Given the description of an element on the screen output the (x, y) to click on. 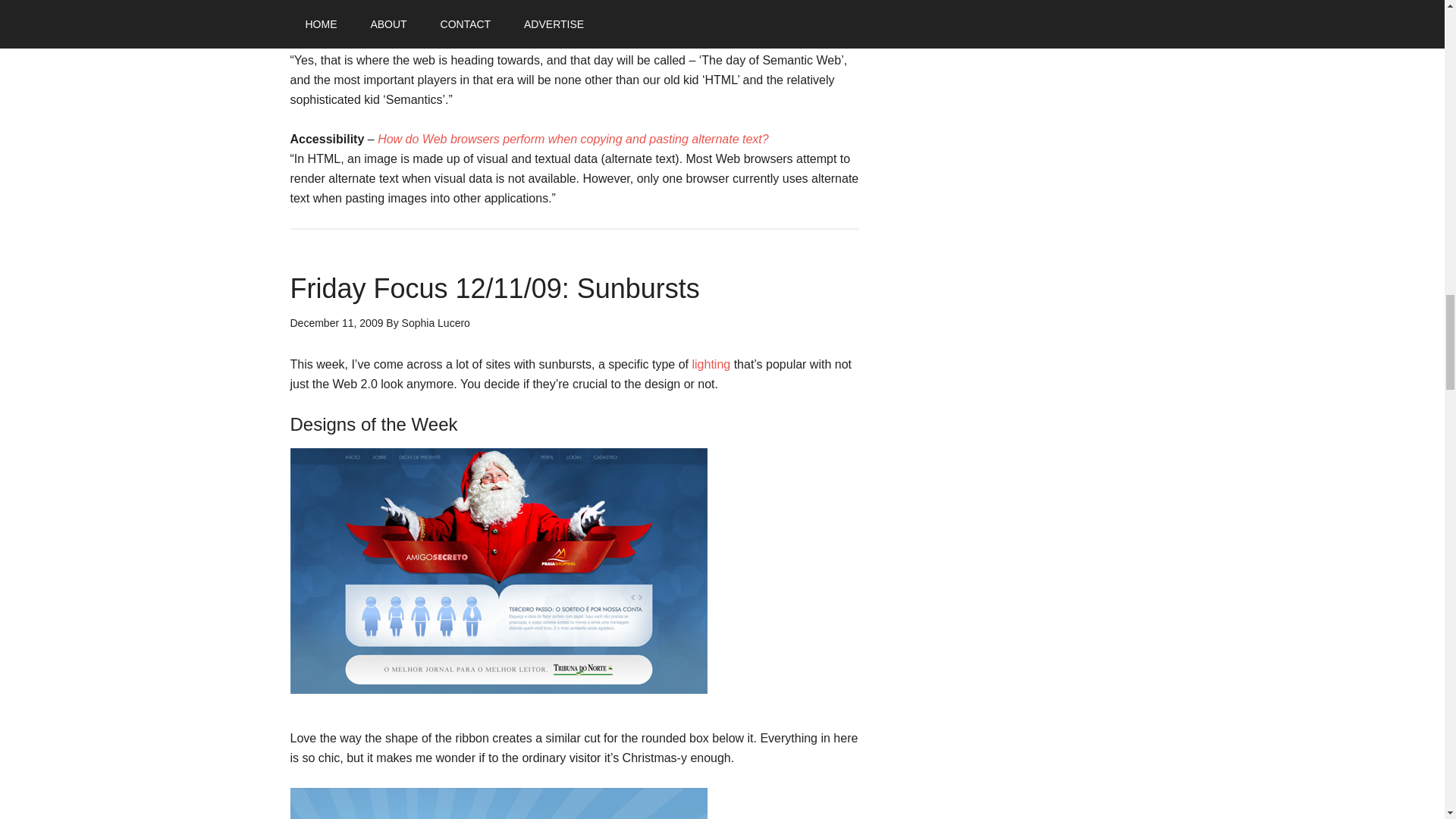
lighting (710, 364)
Sophia Lucero (435, 322)
